Given the description of an element on the screen output the (x, y) to click on. 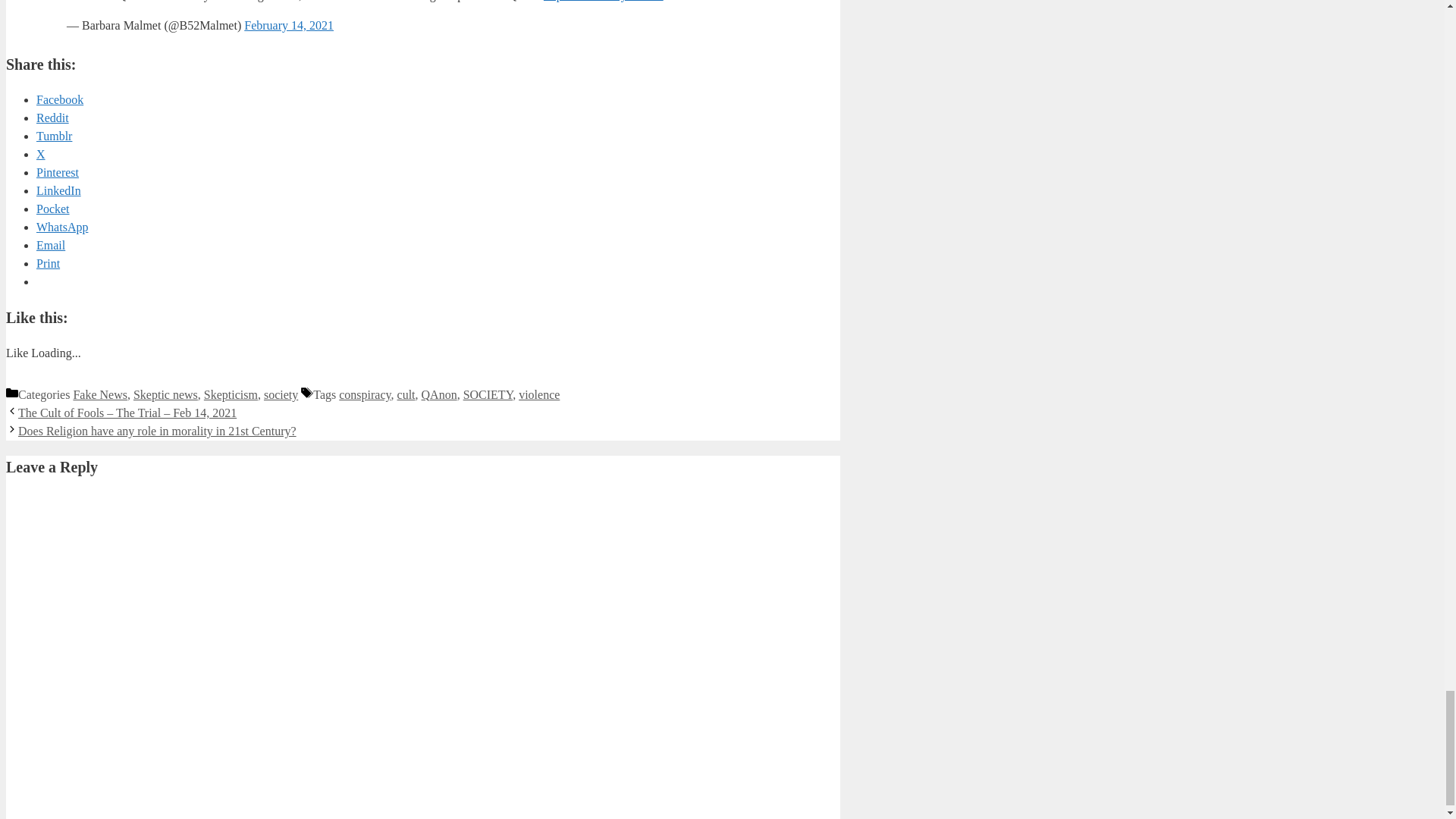
Click to print (47, 263)
Click to email a link to a friend (50, 245)
Click to share on WhatsApp (61, 226)
Click to share on Pinterest (57, 172)
Click to share on Reddit (52, 117)
Click to share on Facebook (59, 99)
Click to share on Tumblr (53, 135)
Click to share on Pocket (52, 208)
Click to share on LinkedIn (58, 190)
